Given the description of an element on the screen output the (x, y) to click on. 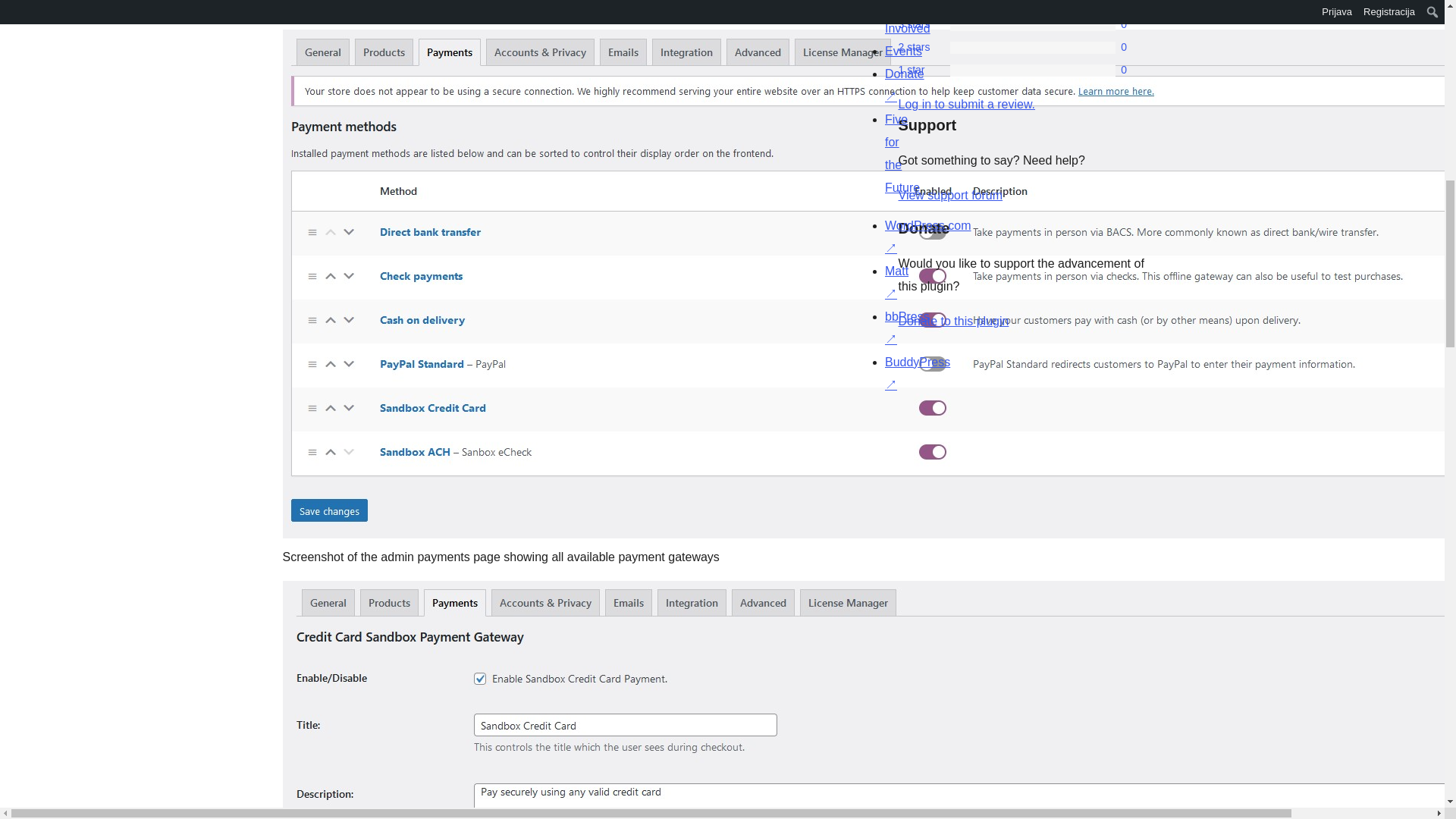
WordPress.org (1014, 415)
WordPress.org (864, 415)
Log in to WordPress.org (966, 103)
